Given the description of an element on the screen output the (x, y) to click on. 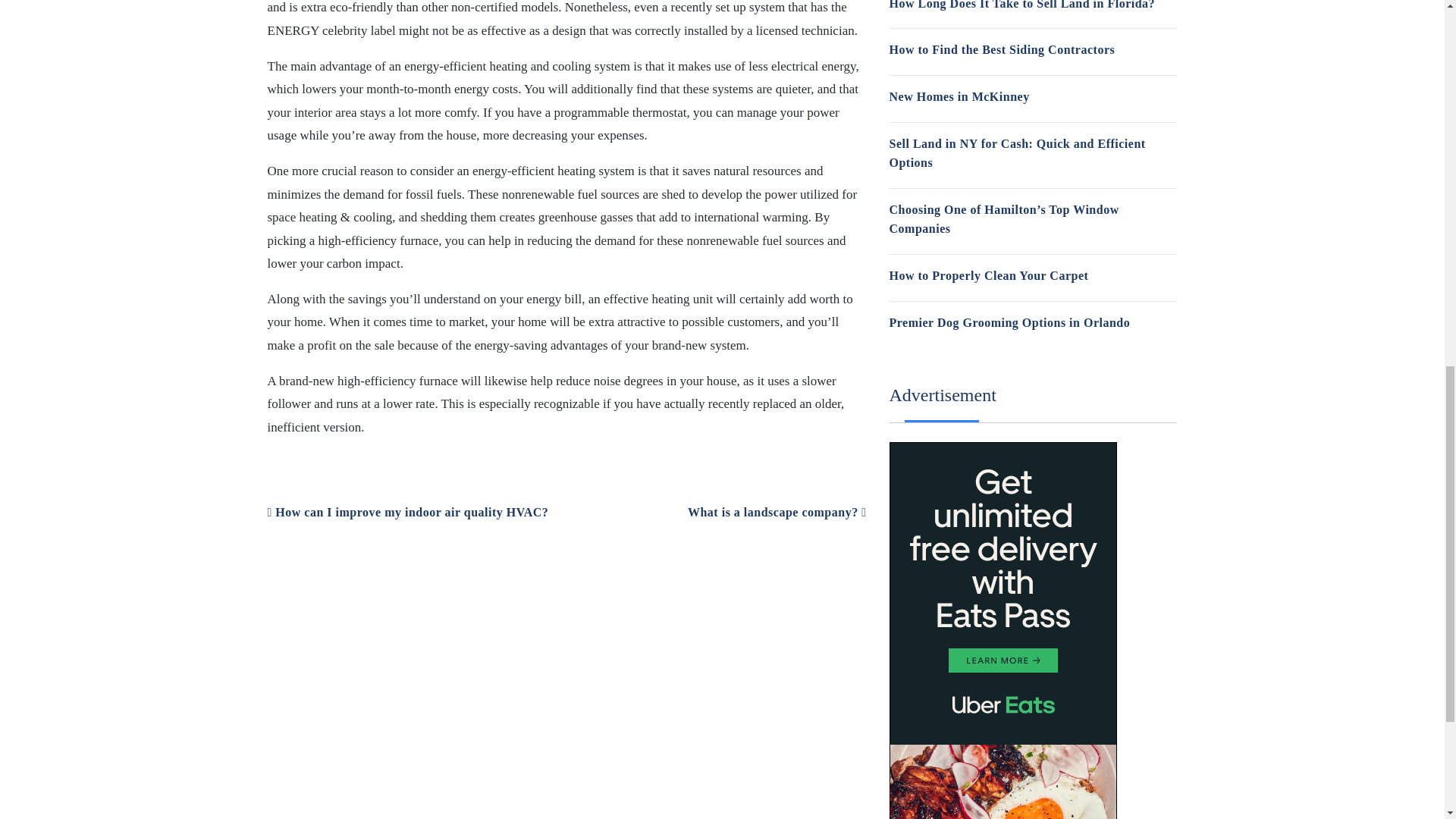
Premier Dog Grooming Options in Orlando (1008, 322)
How Long Does It Take to Sell Land in Florida? (1021, 4)
How to Find the Best Siding Contractors (1001, 49)
How can I improve my indoor air quality HVAC? (407, 512)
What is a landscape company? (776, 512)
Sell Land in NY for Cash: Quick and Efficient Options (1016, 153)
New Homes in McKinney (958, 96)
How to Properly Clean Your Carpet (987, 275)
